Given the description of an element on the screen output the (x, y) to click on. 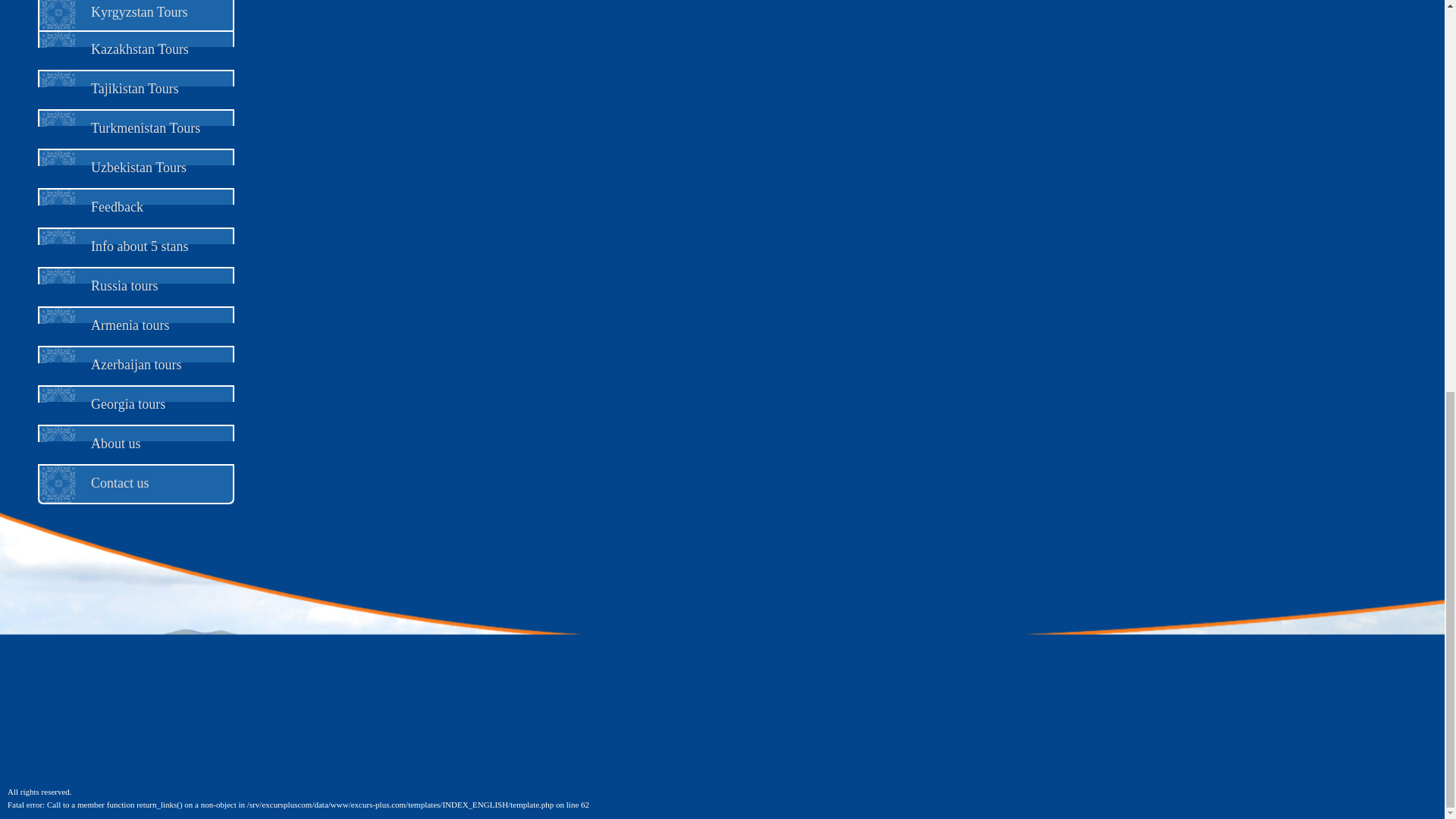
About us (115, 443)
Georgia tours (127, 403)
Tajikistan Tours (134, 88)
Armenia tours (129, 324)
Russia tours (124, 285)
Kyrgyzstan Tours (138, 11)
Kazakhstan Tours (139, 48)
Azerbaijan tours (135, 364)
Uzbekistan Tours (138, 167)
Contact us (119, 482)
